Given the description of an element on the screen output the (x, y) to click on. 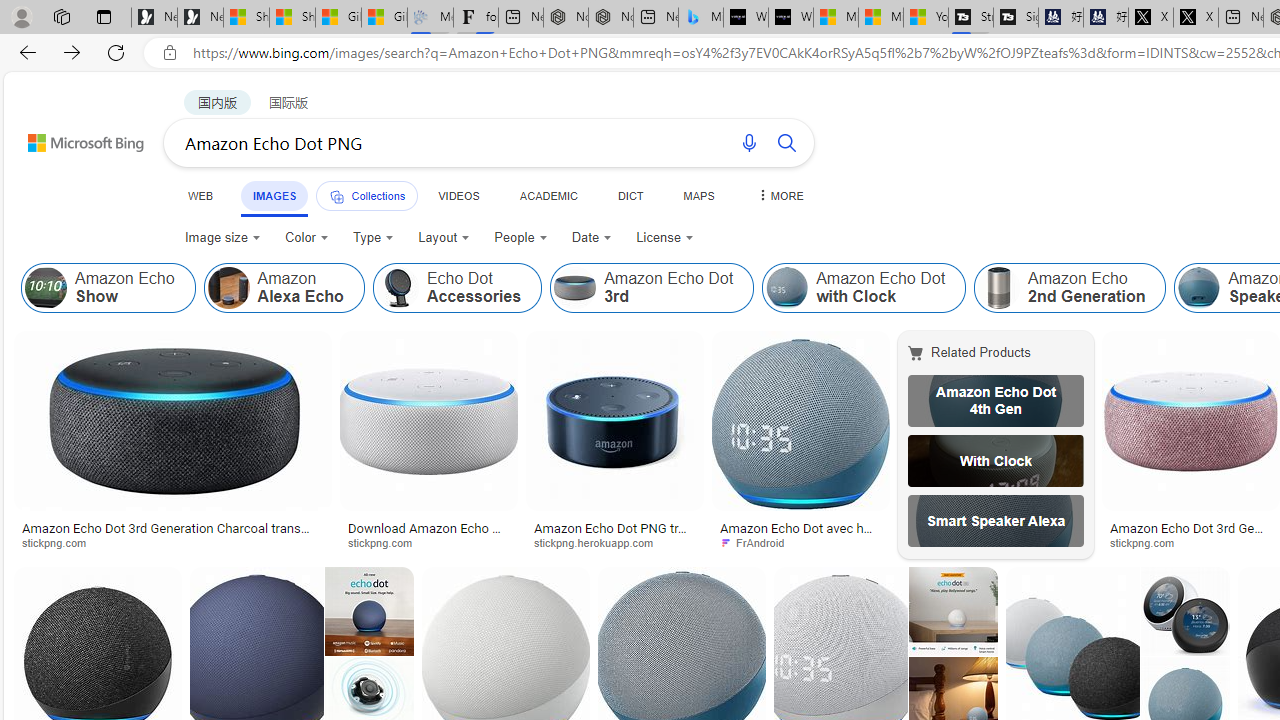
Date (591, 237)
Amazon Echo Dot 3rd (651, 287)
WEB (201, 195)
With Clock (995, 460)
ACADEMIC (548, 195)
Layout (443, 237)
Class: b_pri_nav_svg (336, 196)
Amazon Echo Dot with Clock (786, 287)
Newsletter Sign Up (199, 17)
